Given the description of an element on the screen output the (x, y) to click on. 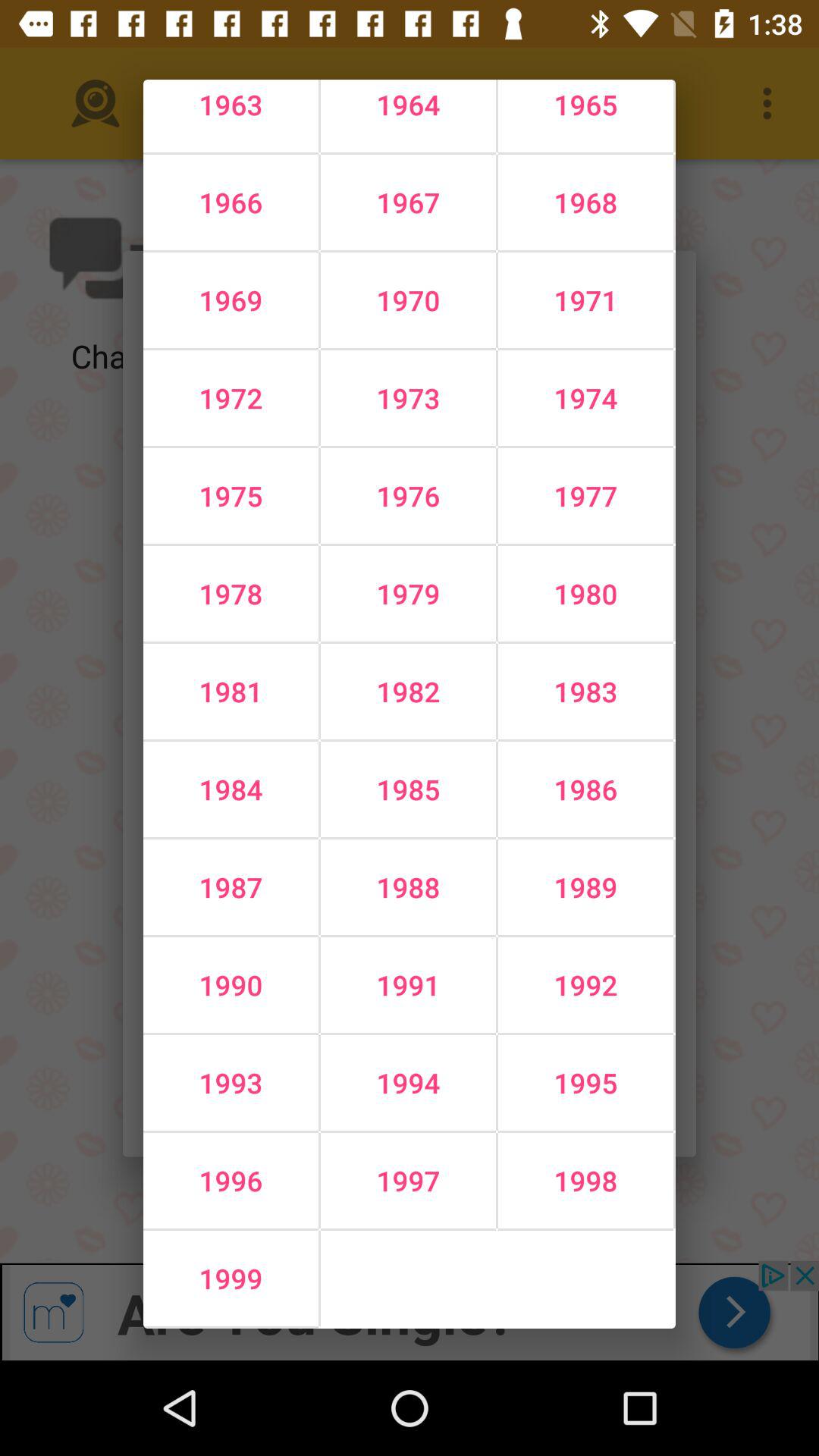
choose 1977 (585, 495)
